Given the description of an element on the screen output the (x, y) to click on. 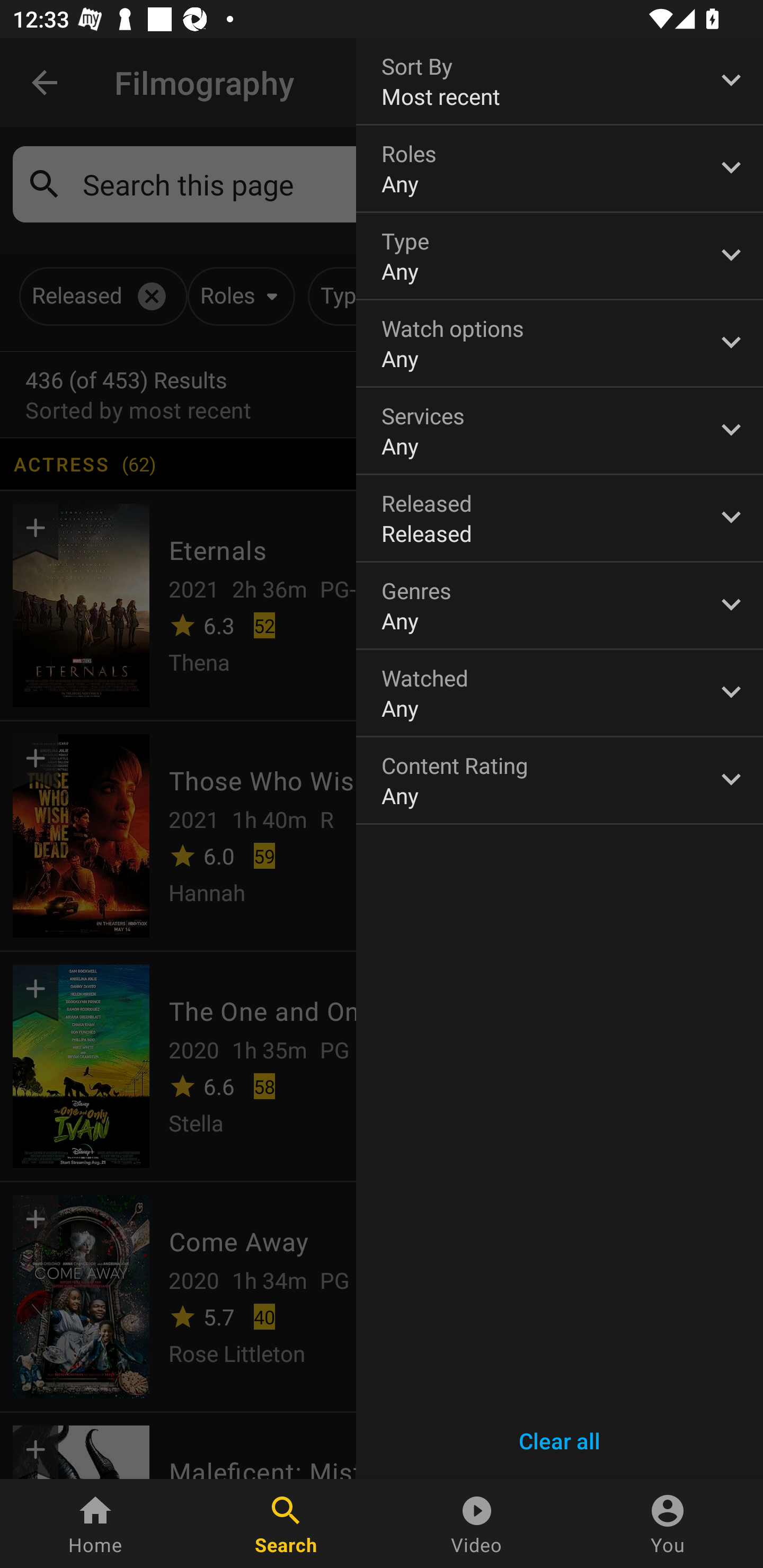
Sort By Most recent (559, 80)
Roles Any (559, 168)
Type Any (559, 256)
Watch options Any (559, 343)
Services Any (559, 430)
Released (559, 518)
Genres Any (559, 605)
Watched Any (559, 692)
Content Rating Any (559, 779)
Home (95, 1523)
Video (476, 1523)
You (667, 1523)
